Given the description of an element on the screen output the (x, y) to click on. 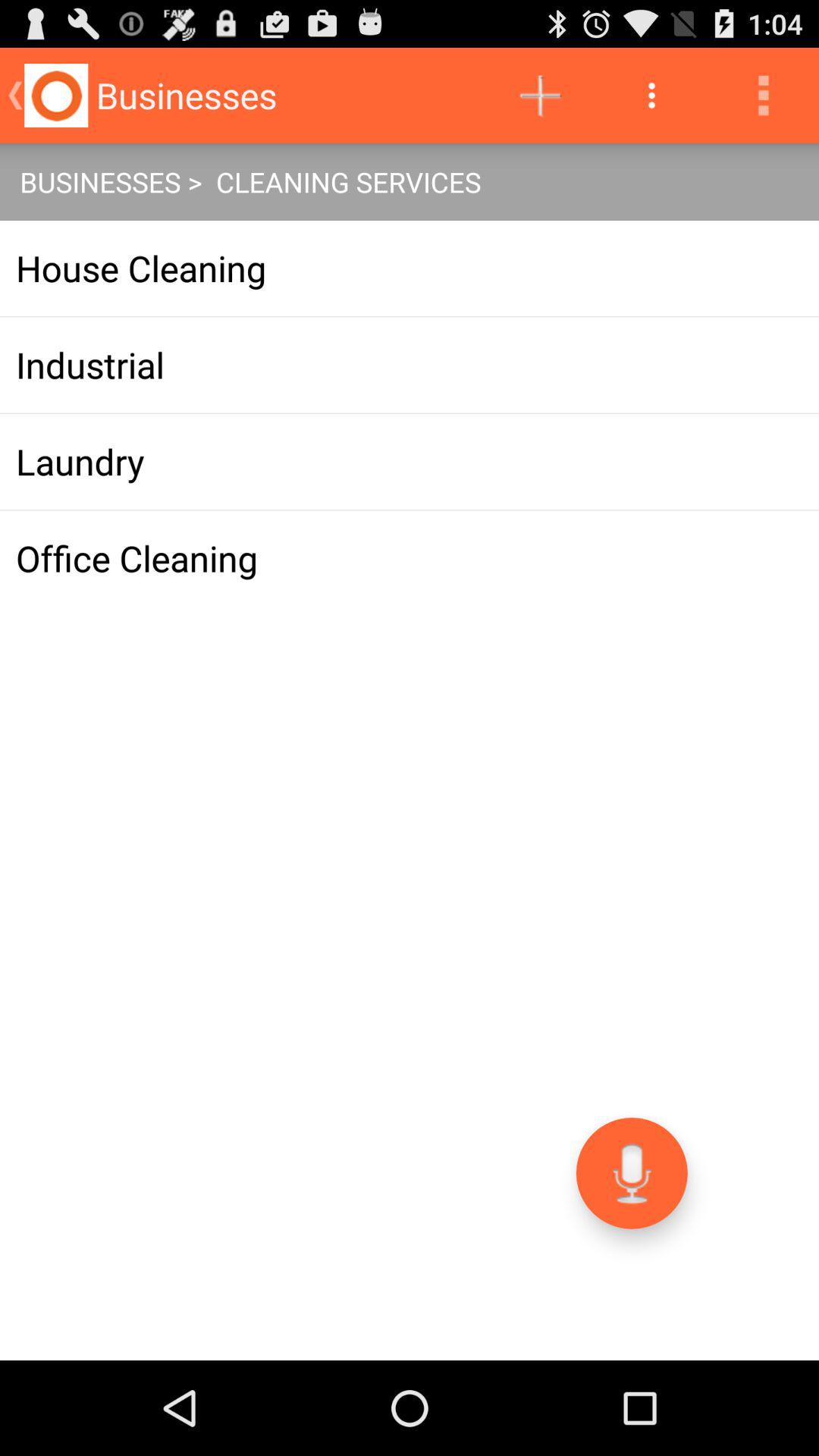
choose icon above the businesses >  cleaning services (651, 95)
